Given the description of an element on the screen output the (x, y) to click on. 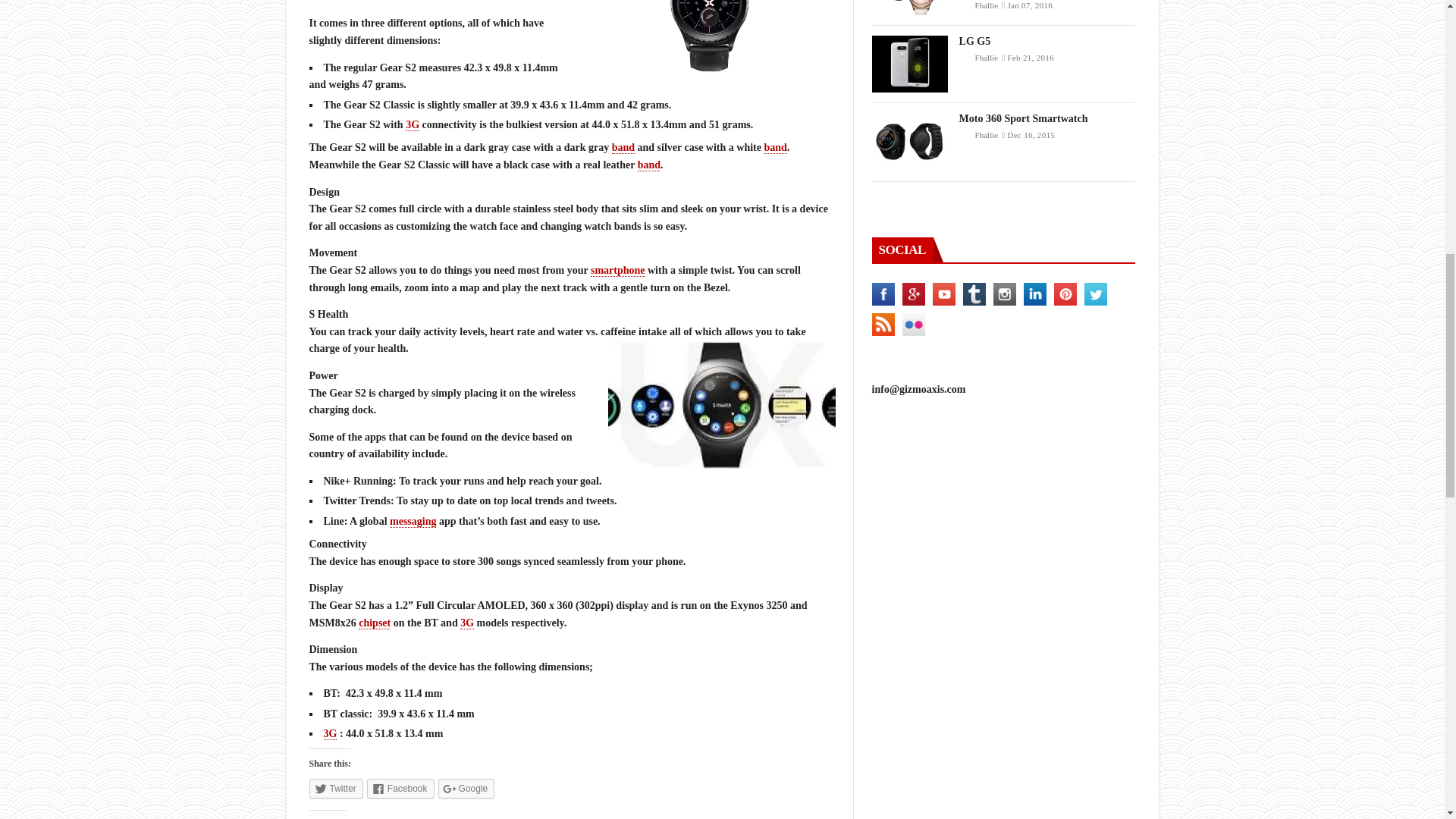
Click to share on Twitter (335, 788)
gear s2 (721, 404)
gear-s2 (710, 43)
Click to share on Facebook (399, 788)
